Given the description of an element on the screen output the (x, y) to click on. 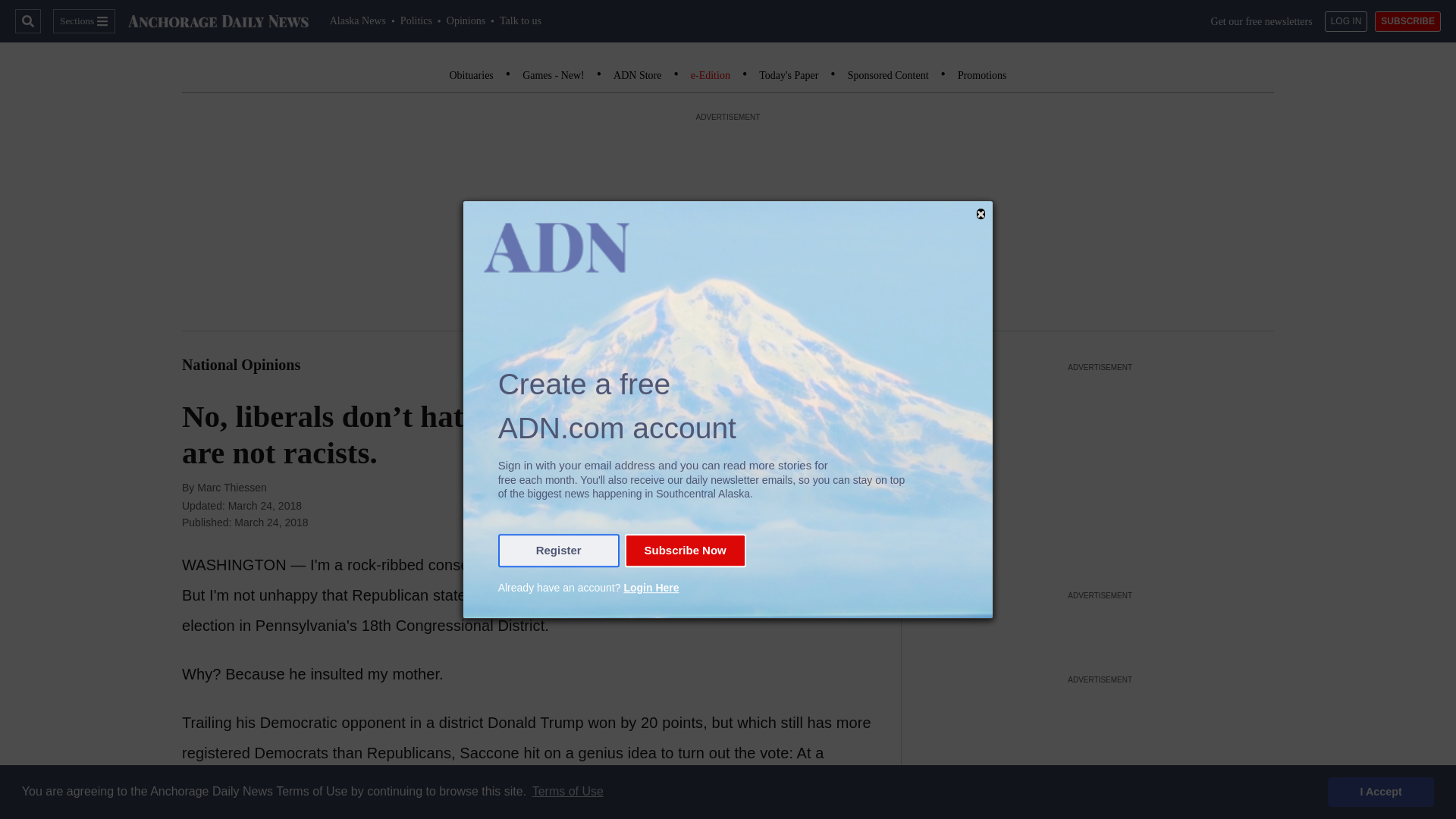
Opinions (465, 20)
Politics (416, 20)
3rd party ad content (1100, 627)
Subscribe Now (684, 549)
3rd party ad content (1100, 753)
Sections (83, 21)
SUBSCRIBE (1407, 20)
LOG IN (1346, 20)
Get our free newsletters (1262, 21)
I Accept (1380, 791)
Alaska News (357, 20)
3rd party ad content (1100, 470)
Terms of Use (567, 791)
ADN Logo (218, 20)
